Given the description of an element on the screen output the (x, y) to click on. 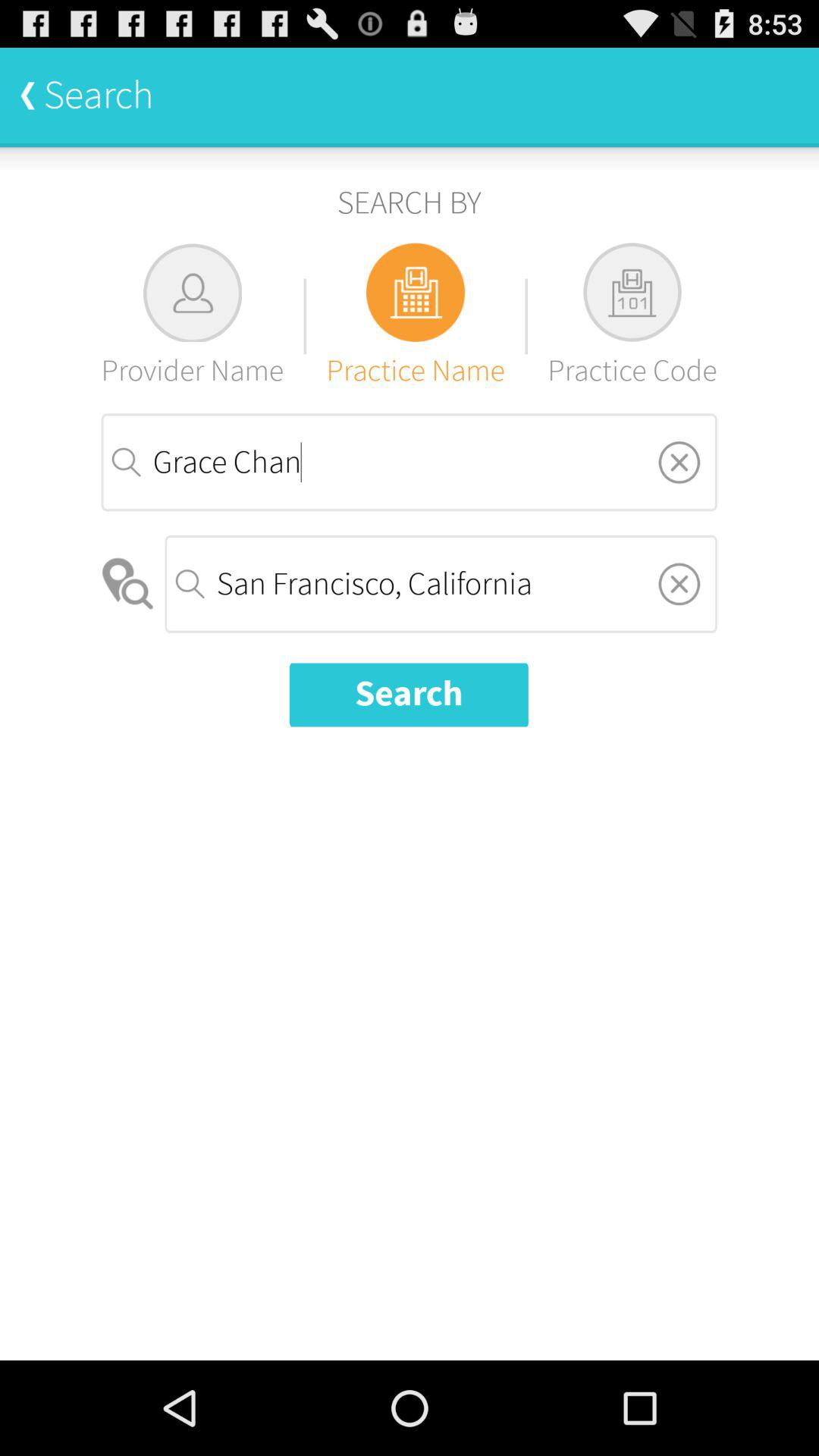
tap the item below search by item (192, 316)
